Given the description of an element on the screen output the (x, y) to click on. 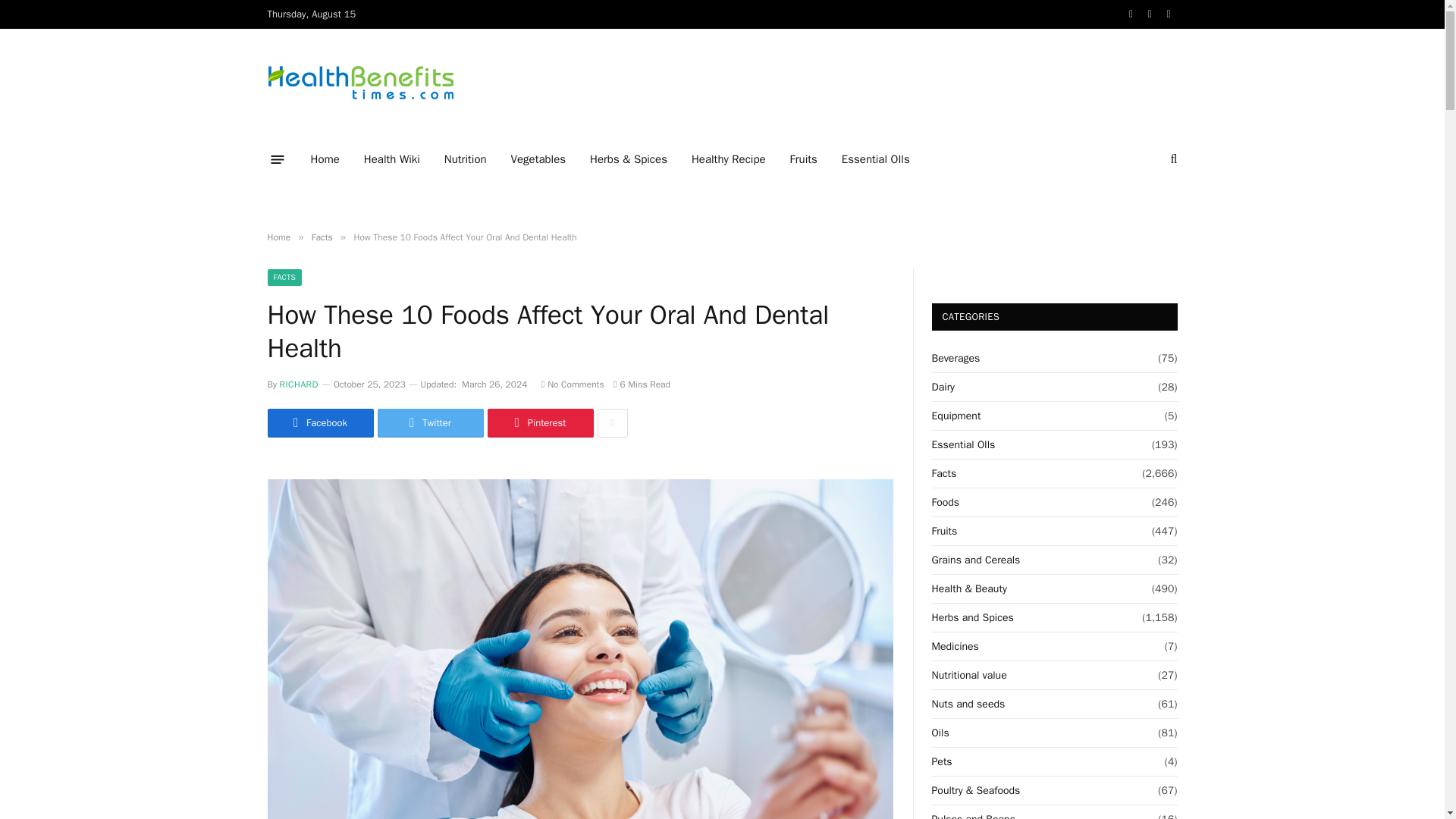
Share on Facebook (319, 422)
FACTS (283, 277)
Facebook (319, 422)
Show More Social Sharing (611, 422)
Twitter (430, 422)
Home (277, 236)
Share on Twitter (430, 422)
Fruits (803, 159)
Essential OIls (875, 159)
Health Benefits (359, 83)
